Given the description of an element on the screen output the (x, y) to click on. 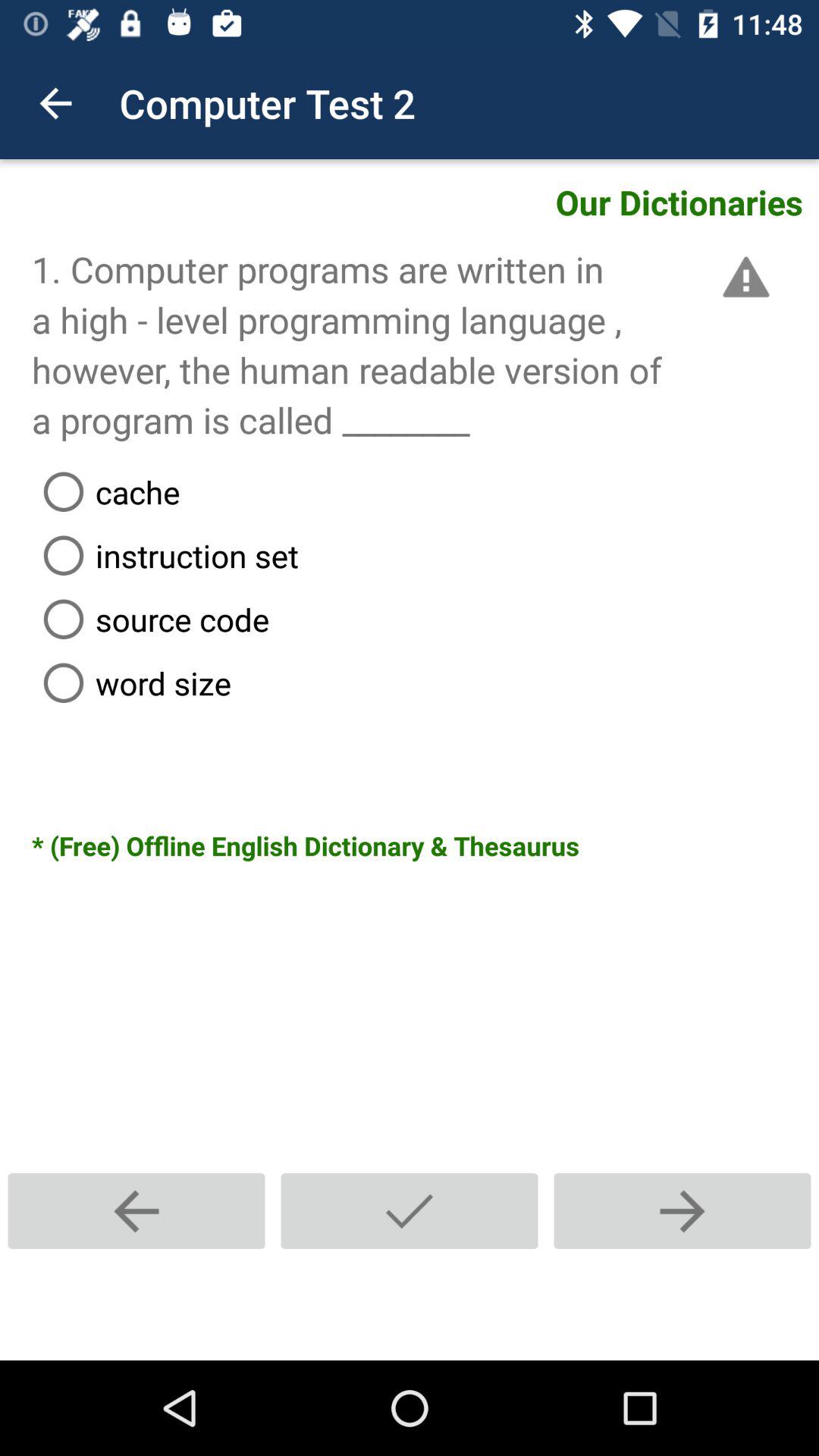
tap app next to the computer test 2 icon (55, 103)
